Given the description of an element on the screen output the (x, y) to click on. 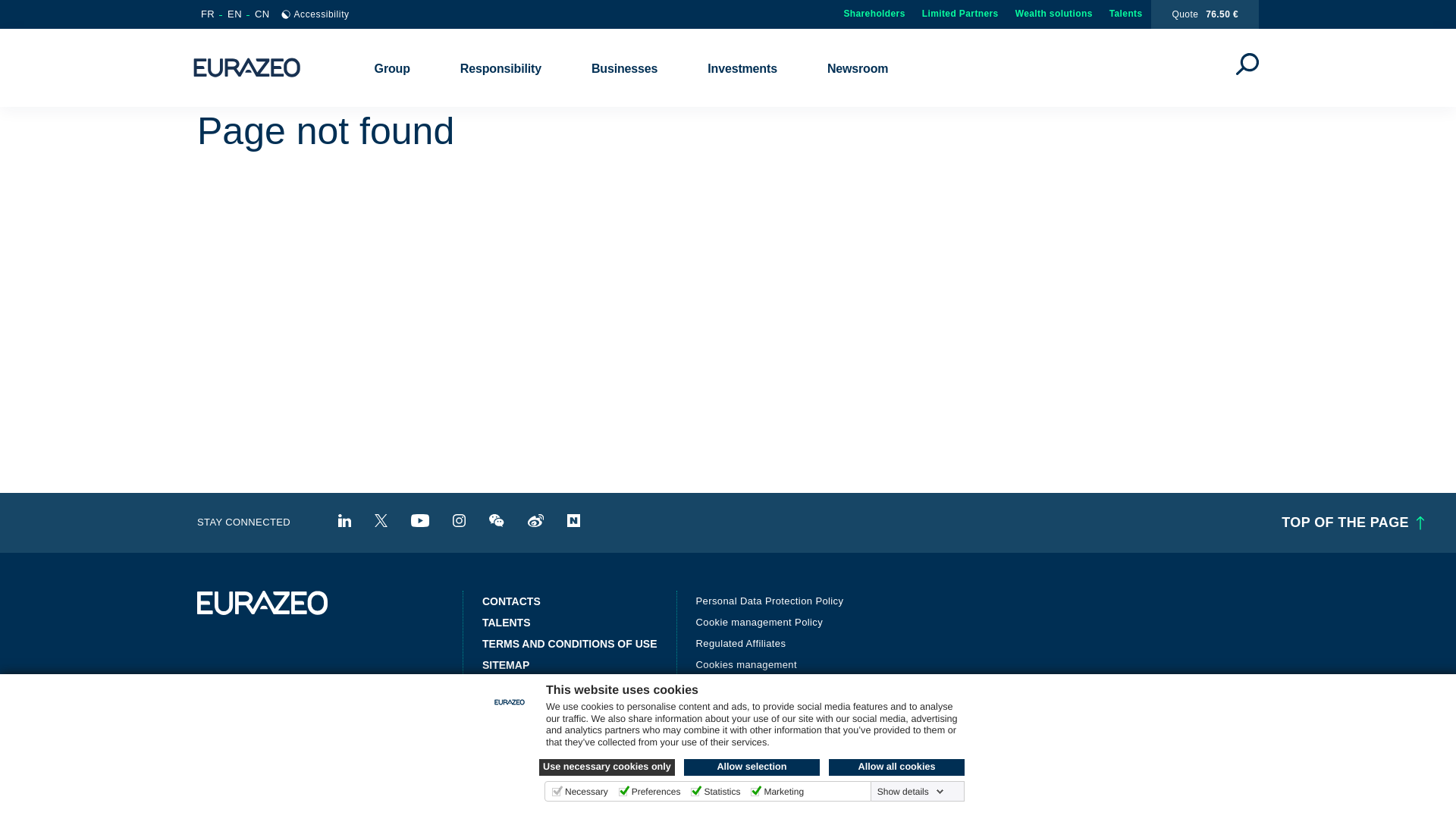
LinkedIn (343, 520)
TOP OF THE PAGE (1350, 522)
